Given the description of an element on the screen output the (x, y) to click on. 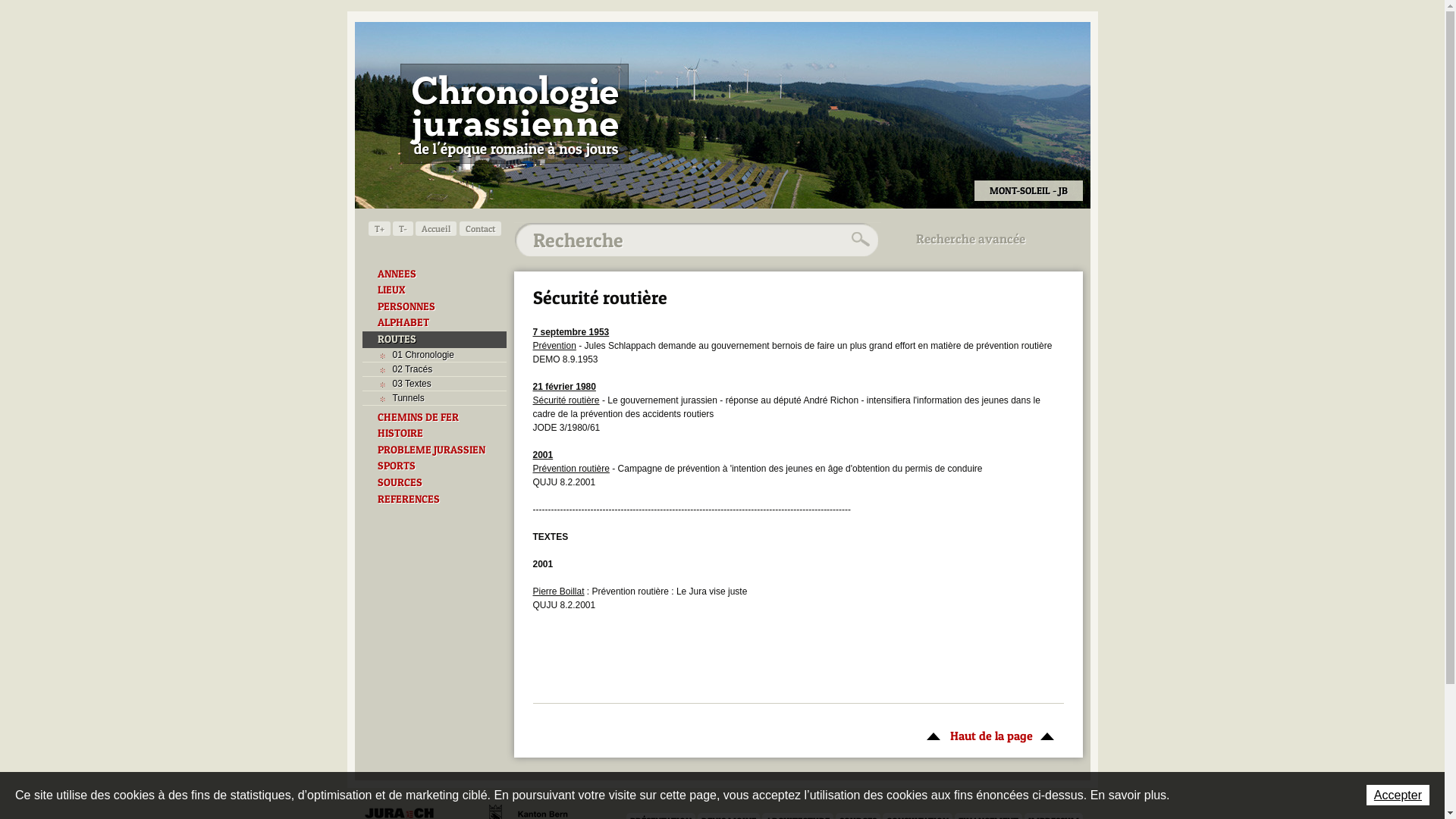
topHaut de la pagetop Element type: text (991, 735)
HISTOIRE Element type: text (434, 433)
REFERENCES Element type: text (434, 499)
01 Chronologie Element type: text (434, 354)
Contact Element type: text (480, 228)
PERSONNES Element type: text (434, 306)
Rechercher Element type: text (858, 239)
ROUTES Element type: text (434, 339)
CHEMINS DE FER Element type: text (434, 417)
T+ Element type: text (379, 228)
LIEUX Element type: text (434, 290)
Chronologie jurassienne Element type: text (514, 113)
PROBLEME JURASSIEN Element type: text (434, 450)
SPORTS Element type: text (434, 466)
T- Element type: text (402, 228)
Accueil Element type: text (435, 228)
03 Textes Element type: text (434, 383)
Tunnels Element type: text (434, 397)
SOURCES Element type: text (434, 482)
ANNEES Element type: text (434, 274)
ALPHABET Element type: text (434, 322)
Accepter Element type: text (1397, 794)
